Given the description of an element on the screen output the (x, y) to click on. 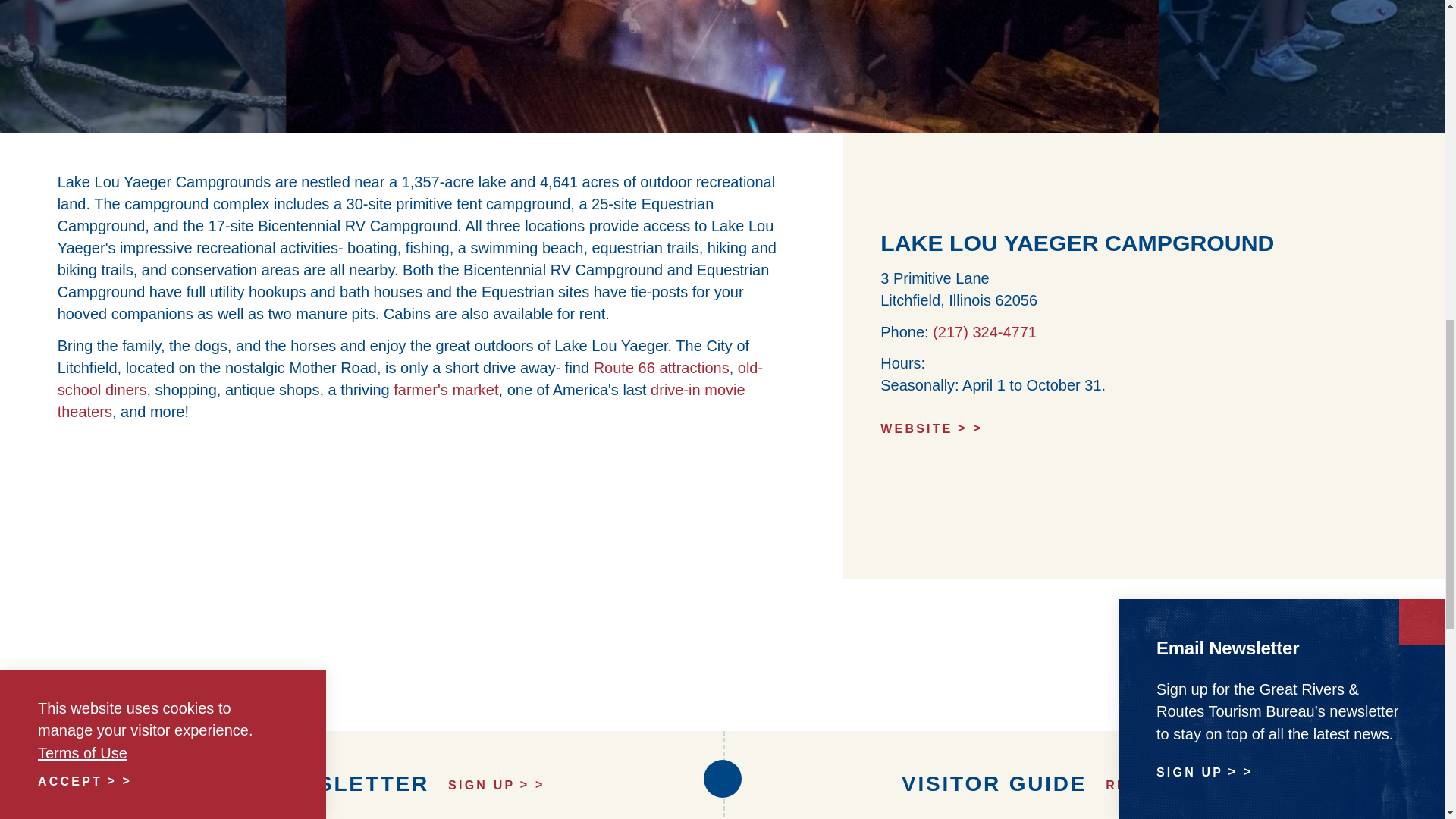
old-school diners (410, 378)
SIGN UP (496, 785)
Route 66 attractions (661, 367)
REQUEST GUIDE (1185, 785)
FareHarbor (1342, 64)
WEBSITE (1143, 428)
farmer's market (445, 389)
drive-in movie theaters (401, 400)
